Given the description of an element on the screen output the (x, y) to click on. 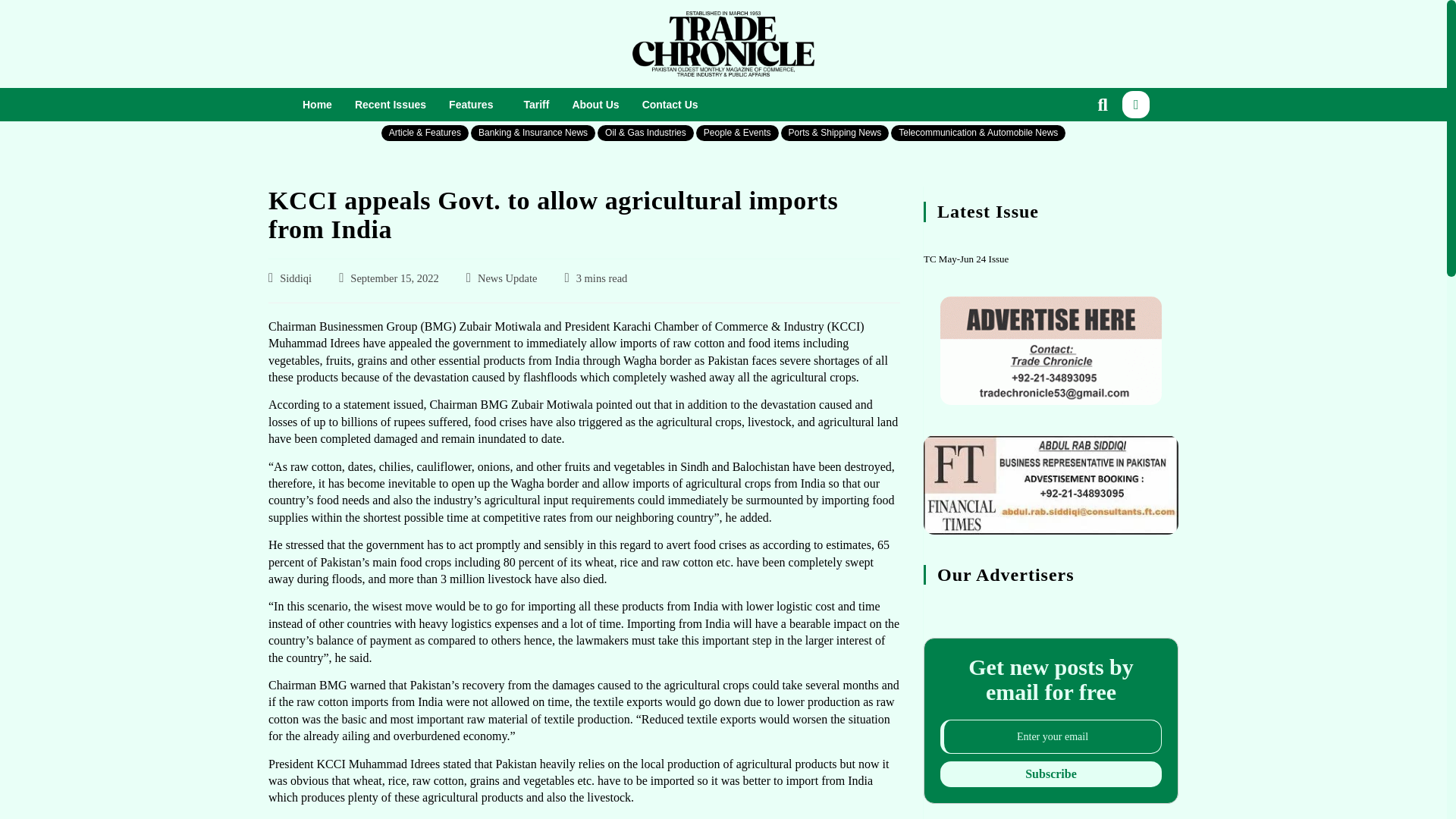
Posts by Siddiqi (295, 277)
Siddiqi (295, 277)
Recent Issues (390, 105)
News Update (507, 277)
Contact Us (670, 105)
Tariff (536, 105)
Home (317, 105)
About Us (595, 105)
Features (475, 105)
